Given the description of an element on the screen output the (x, y) to click on. 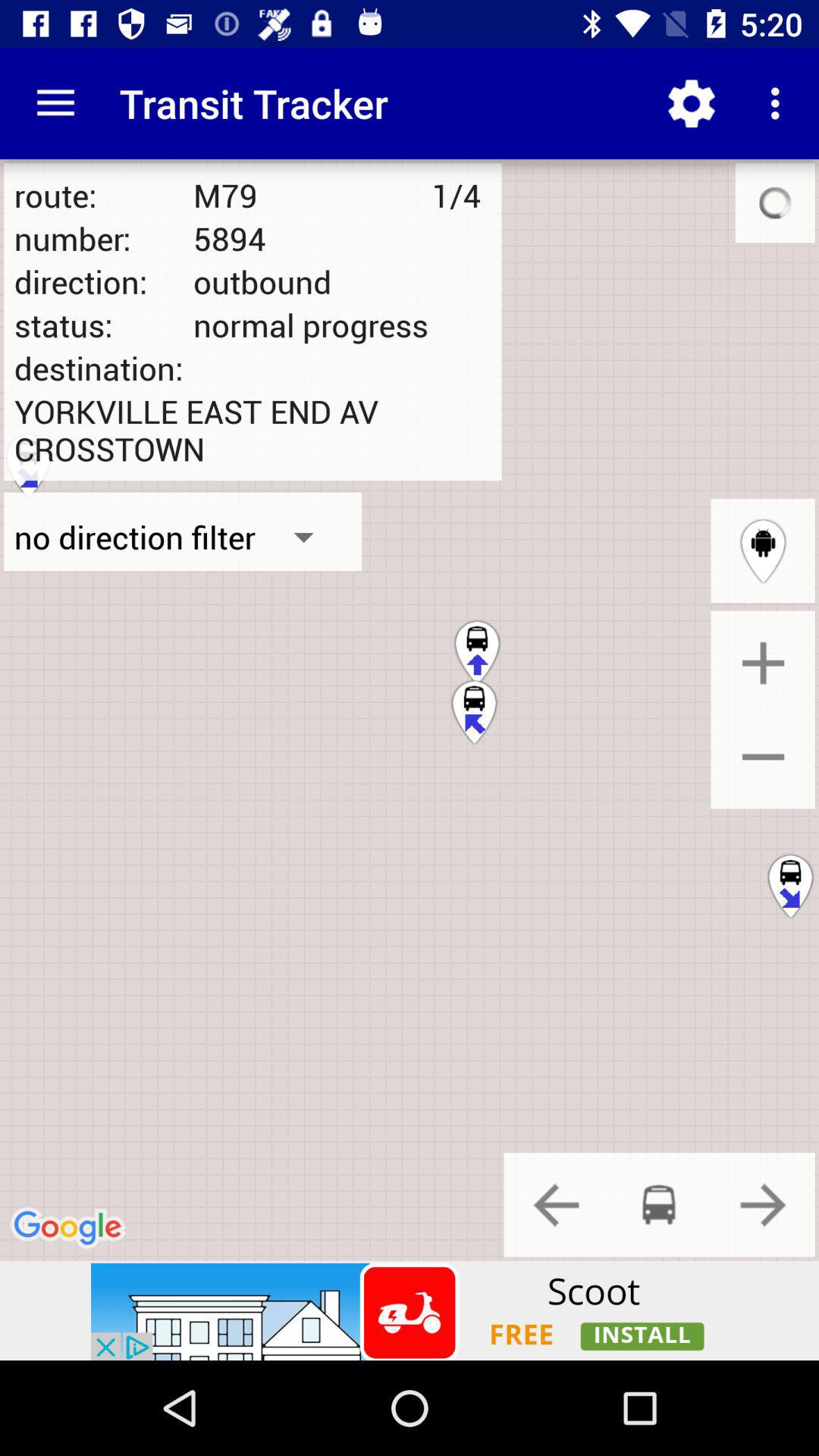
go to another site (409, 1310)
